Given the description of an element on the screen output the (x, y) to click on. 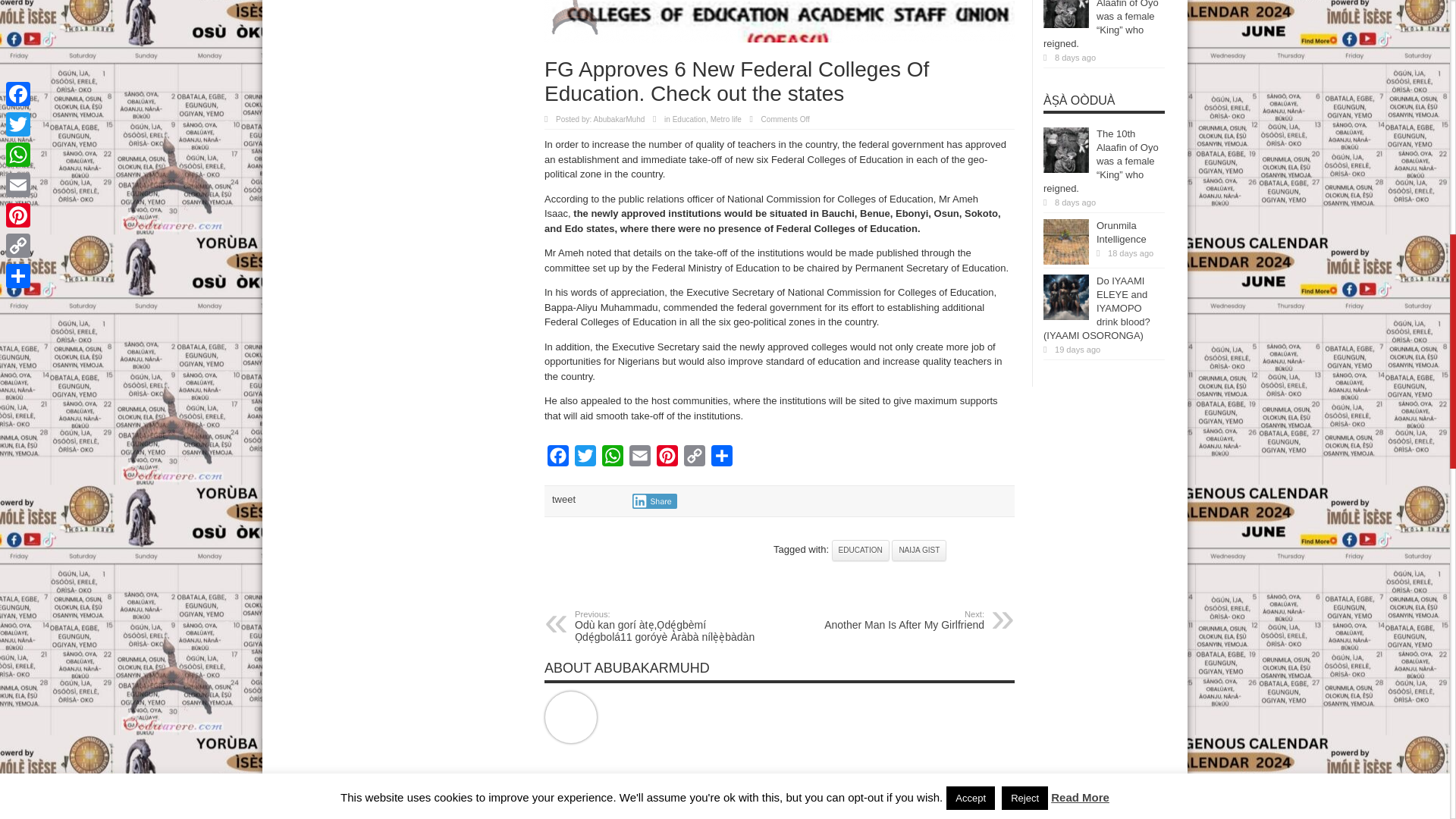
Pin It (743, 550)
Facebook (558, 459)
Email (639, 459)
Twitter (585, 459)
Copy Link (694, 459)
Pinterest (667, 459)
WhatsApp (612, 459)
